Given the description of an element on the screen output the (x, y) to click on. 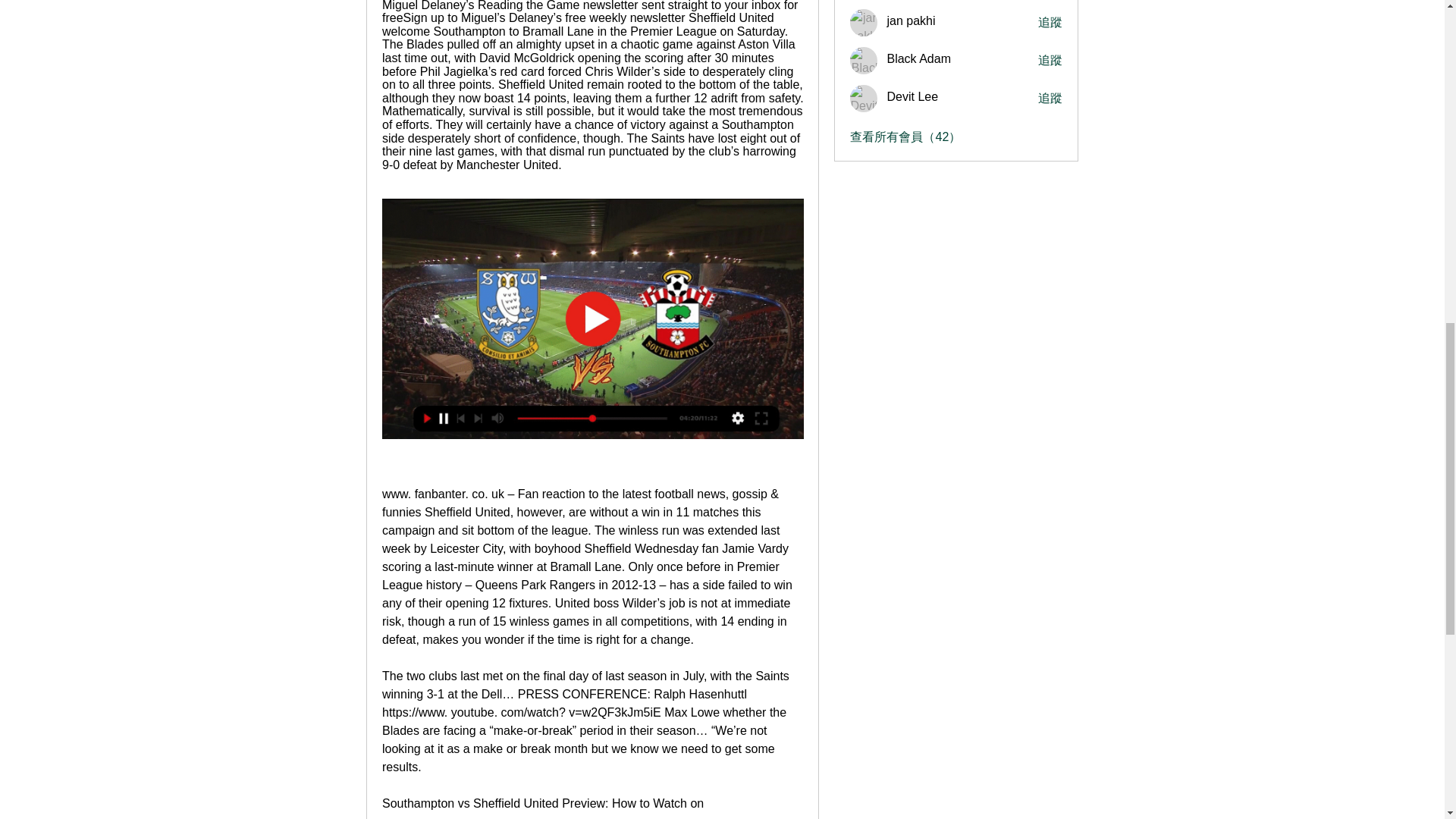
Black Adam (863, 60)
Devit Lee (863, 98)
jan pakhi (863, 22)
